Given the description of an element on the screen output the (x, y) to click on. 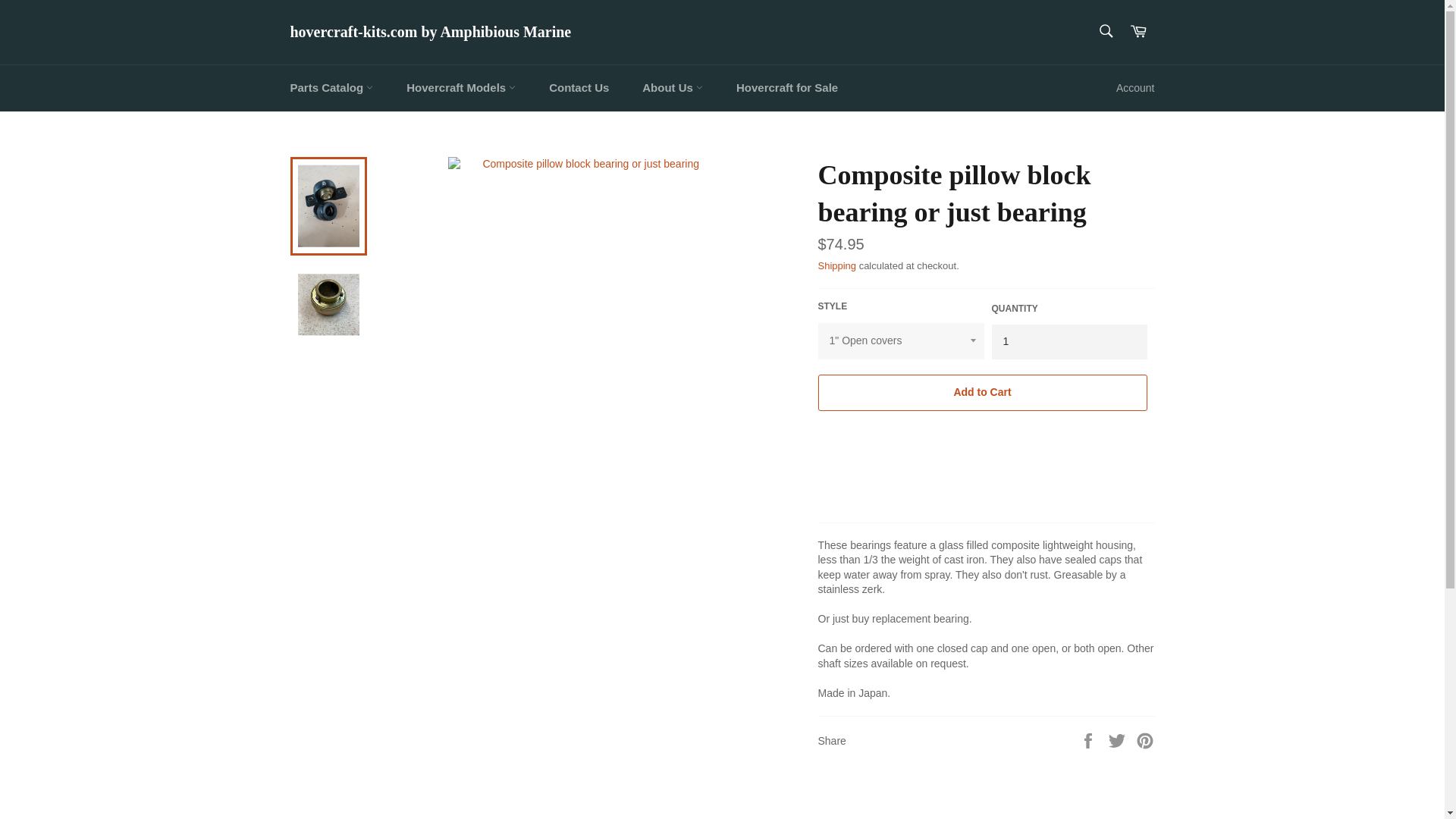
1 (1069, 341)
Tweet on Twitter (1118, 739)
Pin on Pinterest (1144, 739)
hovercraft-kits.com by Amphibious Marine (429, 32)
Share on Facebook (1089, 739)
